Given the description of an element on the screen output the (x, y) to click on. 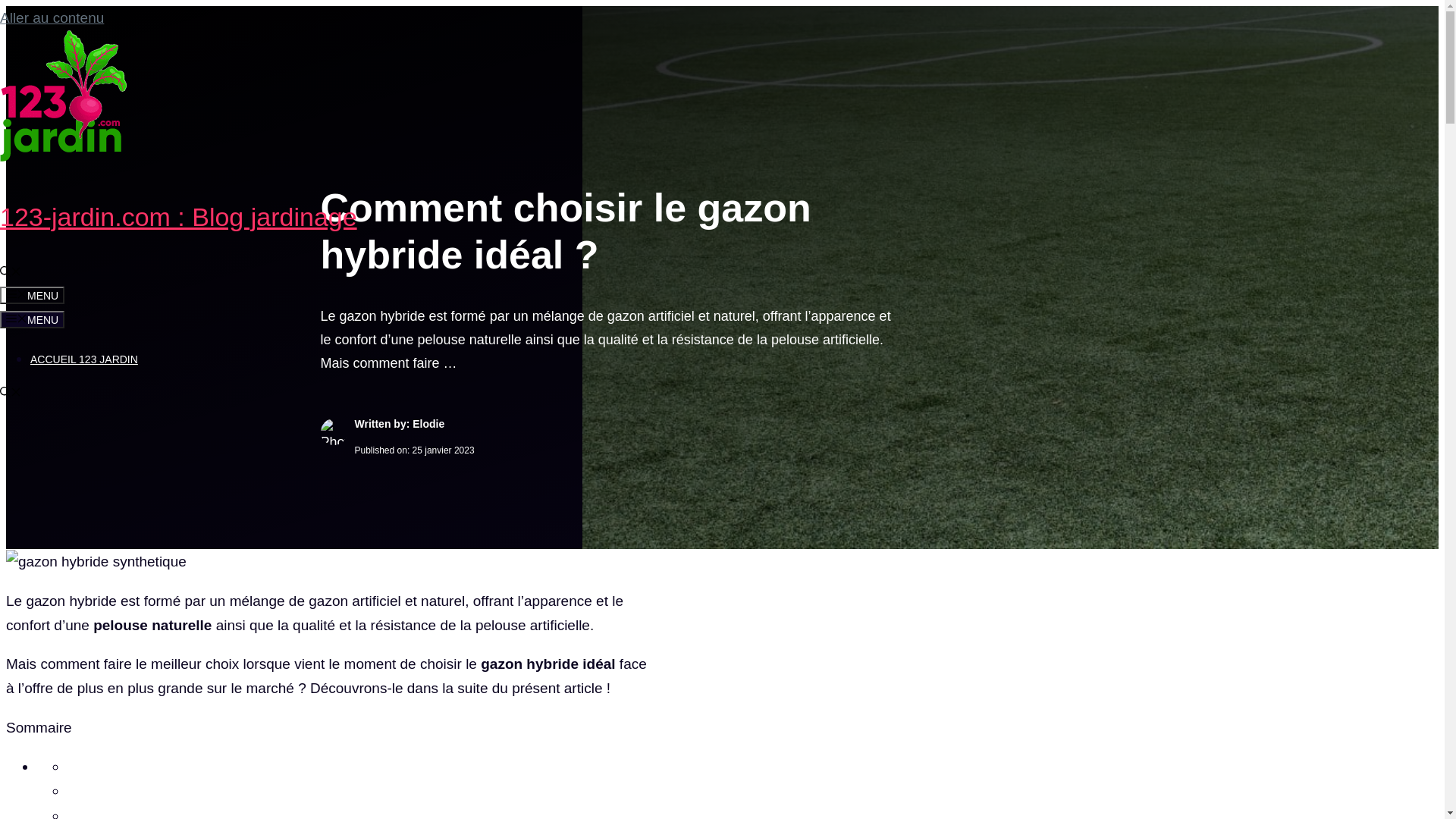
MENU Element type: text (32, 319)
ACCUEIL 123 JARDIN Element type: text (84, 359)
Aller au contenu Element type: text (51, 17)
MENU Element type: text (32, 295)
123-jardin.com : Blog jardinage Element type: text (178, 216)
